Given the description of an element on the screen output the (x, y) to click on. 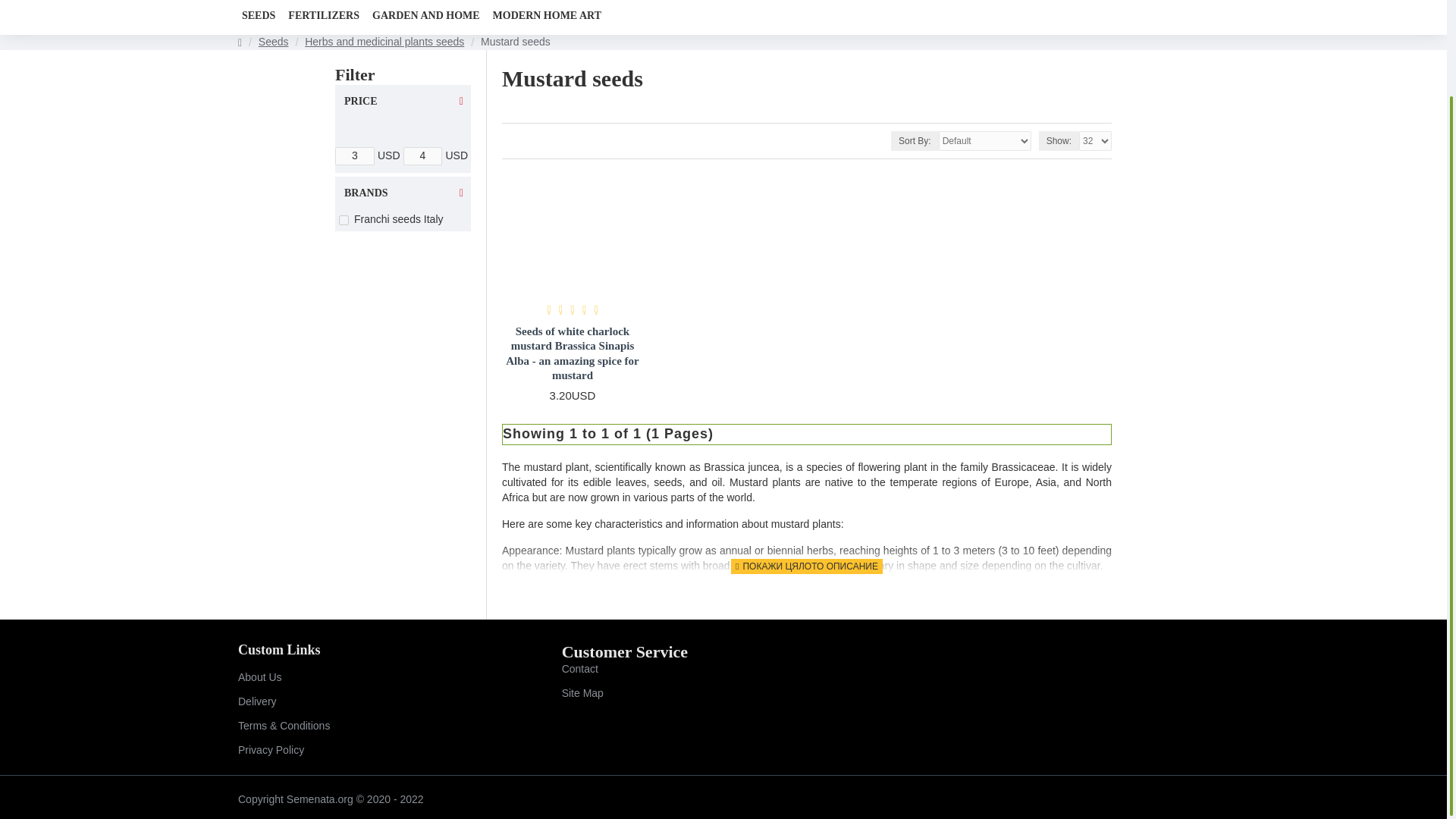
19 (344, 220)
SEEDS (258, 15)
3 (354, 156)
4 (422, 156)
